Given the description of an element on the screen output the (x, y) to click on. 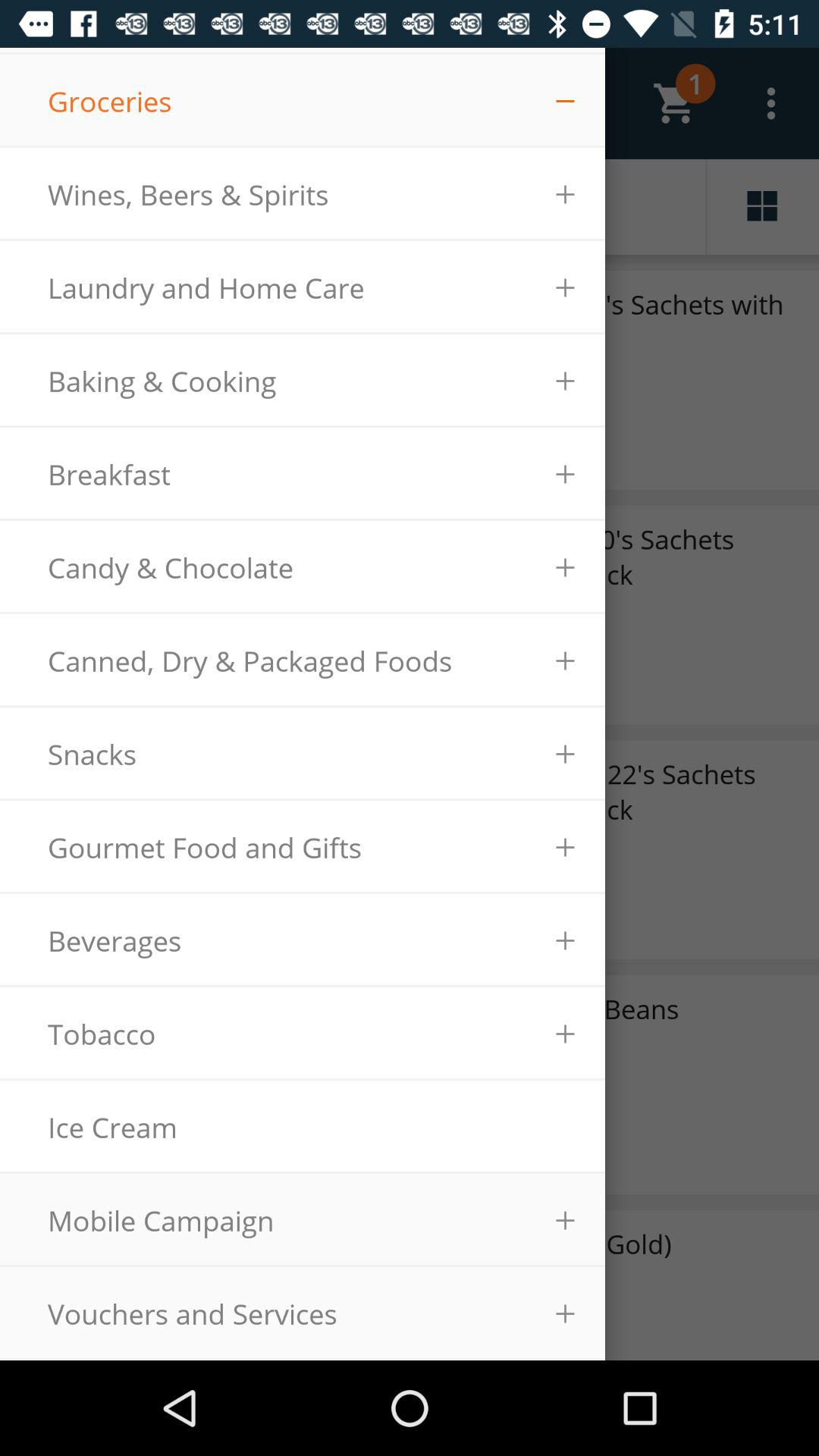
click on the plus icon right beside of tobacco (565, 1034)
option right to groceries (579, 103)
